Given the description of an element on the screen output the (x, y) to click on. 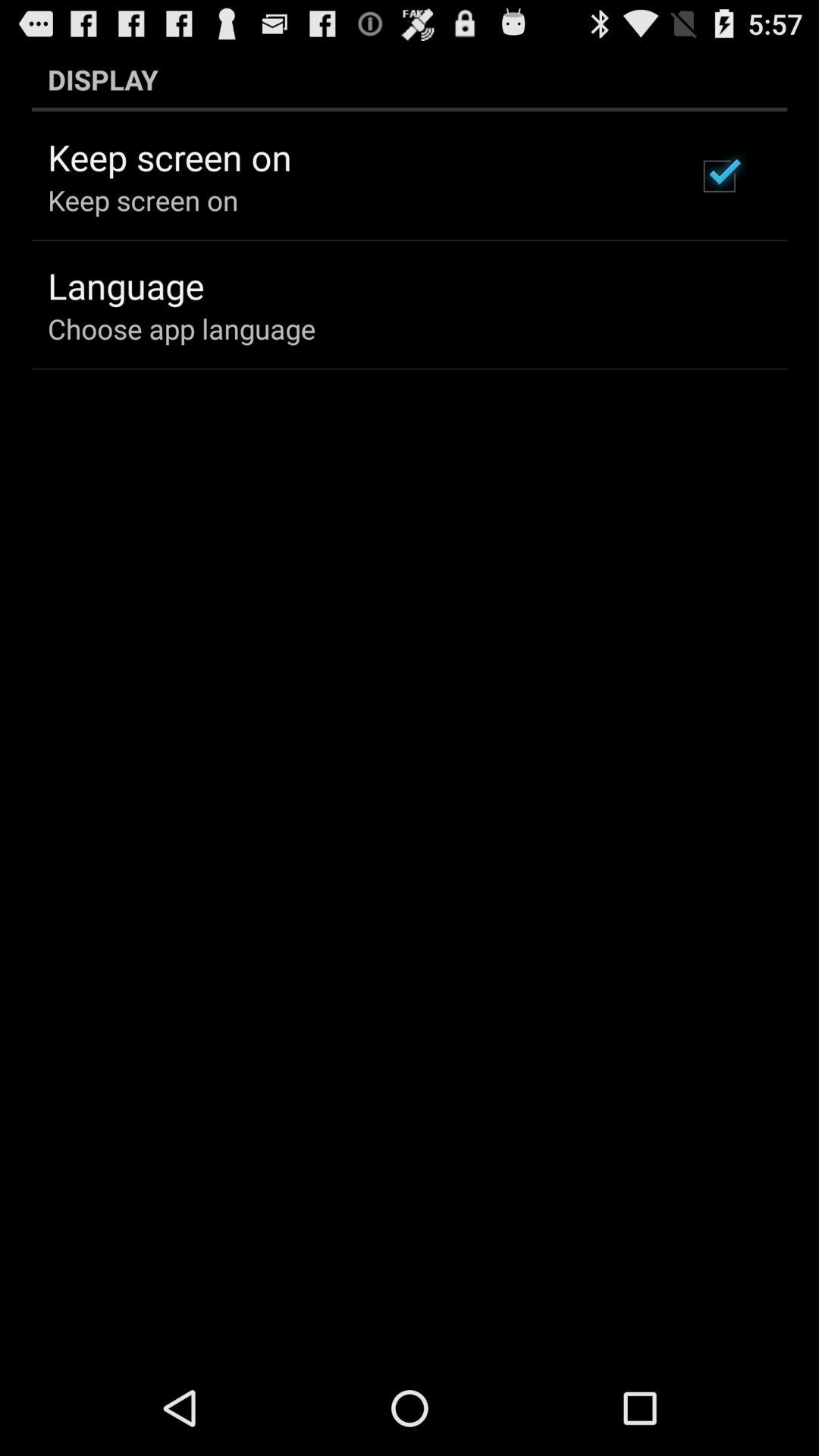
press display (409, 79)
